Given the description of an element on the screen output the (x, y) to click on. 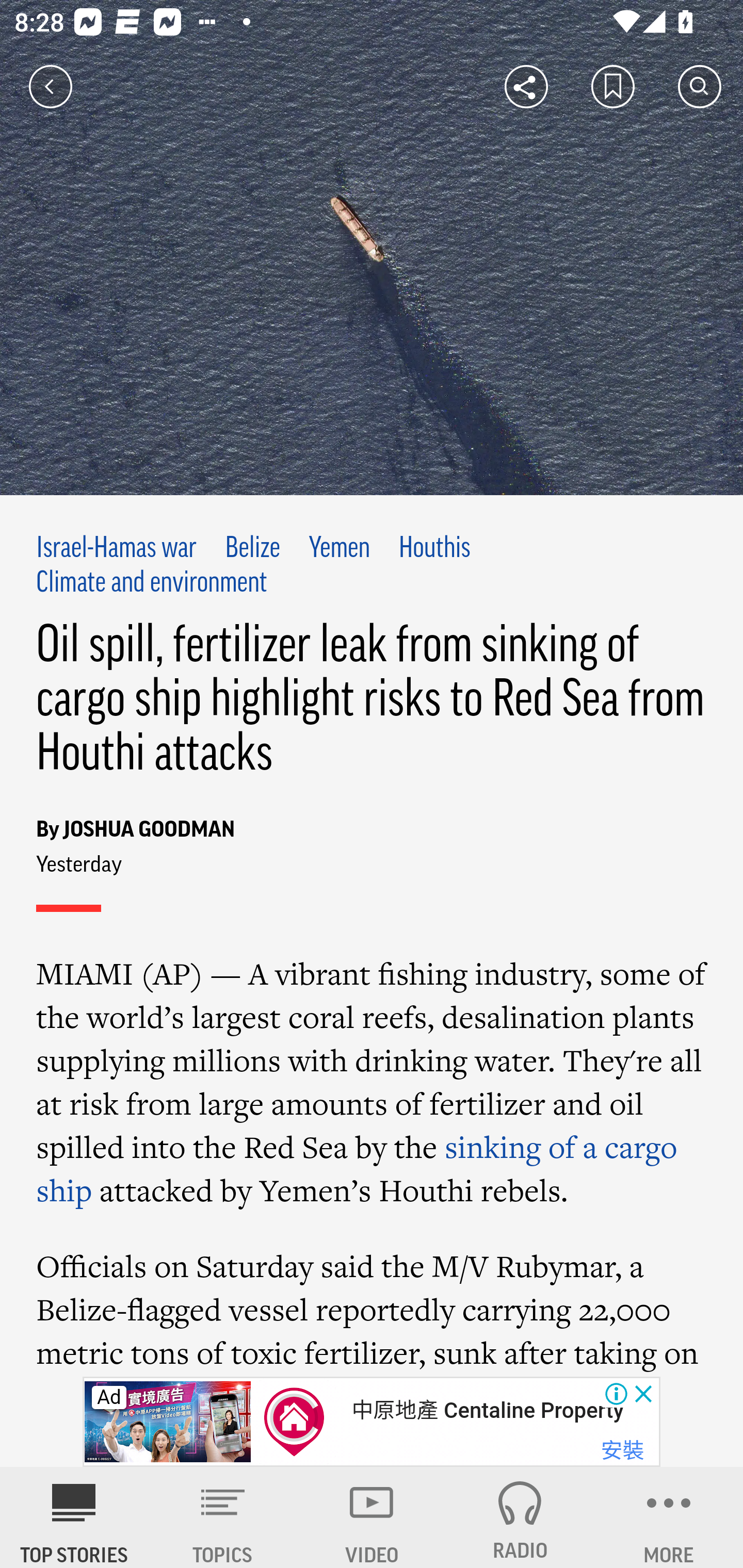
Israel-Hamas war (117, 549)
Belize (252, 549)
Yemen (339, 549)
Houthis (434, 549)
Climate and environment (151, 584)
sinking of a cargo ship (357, 1168)
中原地產 Centaline Property (486, 1410)
安裝 (621, 1444)
AP News TOP STORIES (74, 1517)
TOPICS (222, 1517)
VIDEO (371, 1517)
RADIO (519, 1517)
MORE (668, 1517)
